Given the description of an element on the screen output the (x, y) to click on. 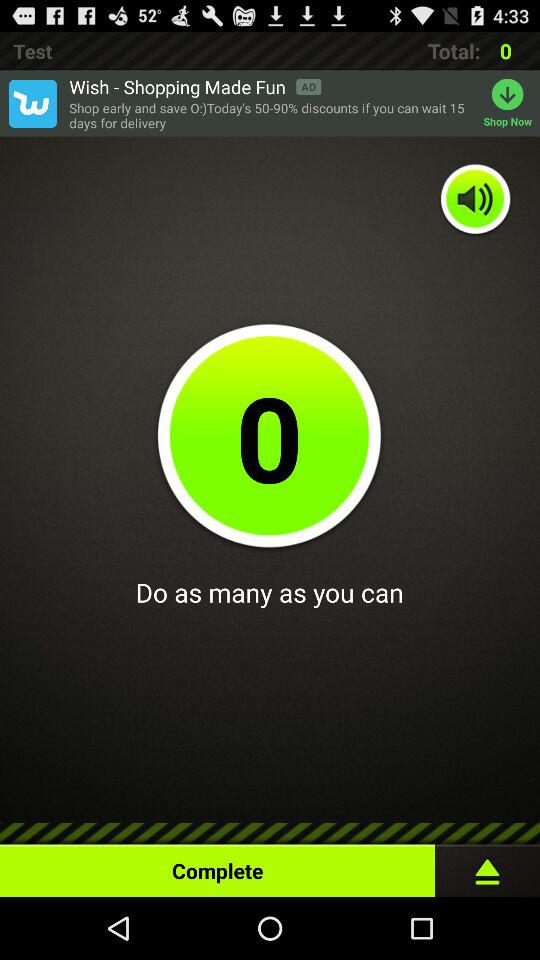
press item next to the complete (487, 866)
